Given the description of an element on the screen output the (x, y) to click on. 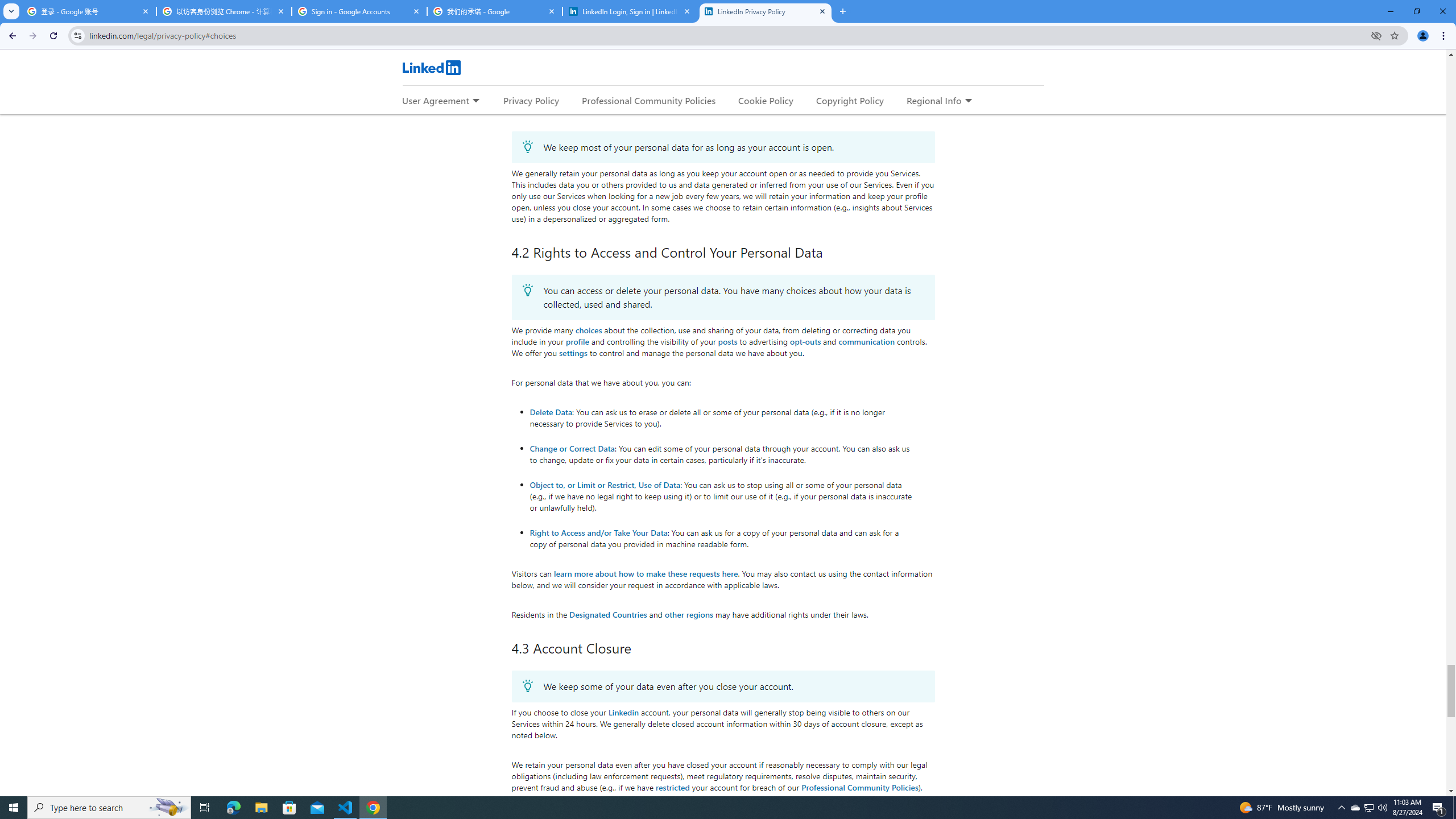
Expand to show more links for Regional Info (967, 101)
communication (866, 341)
Cookie Policy (765, 100)
restricted (672, 786)
Regional Info (933, 100)
Designated Countries (608, 613)
settings (573, 352)
